Given the description of an element on the screen output the (x, y) to click on. 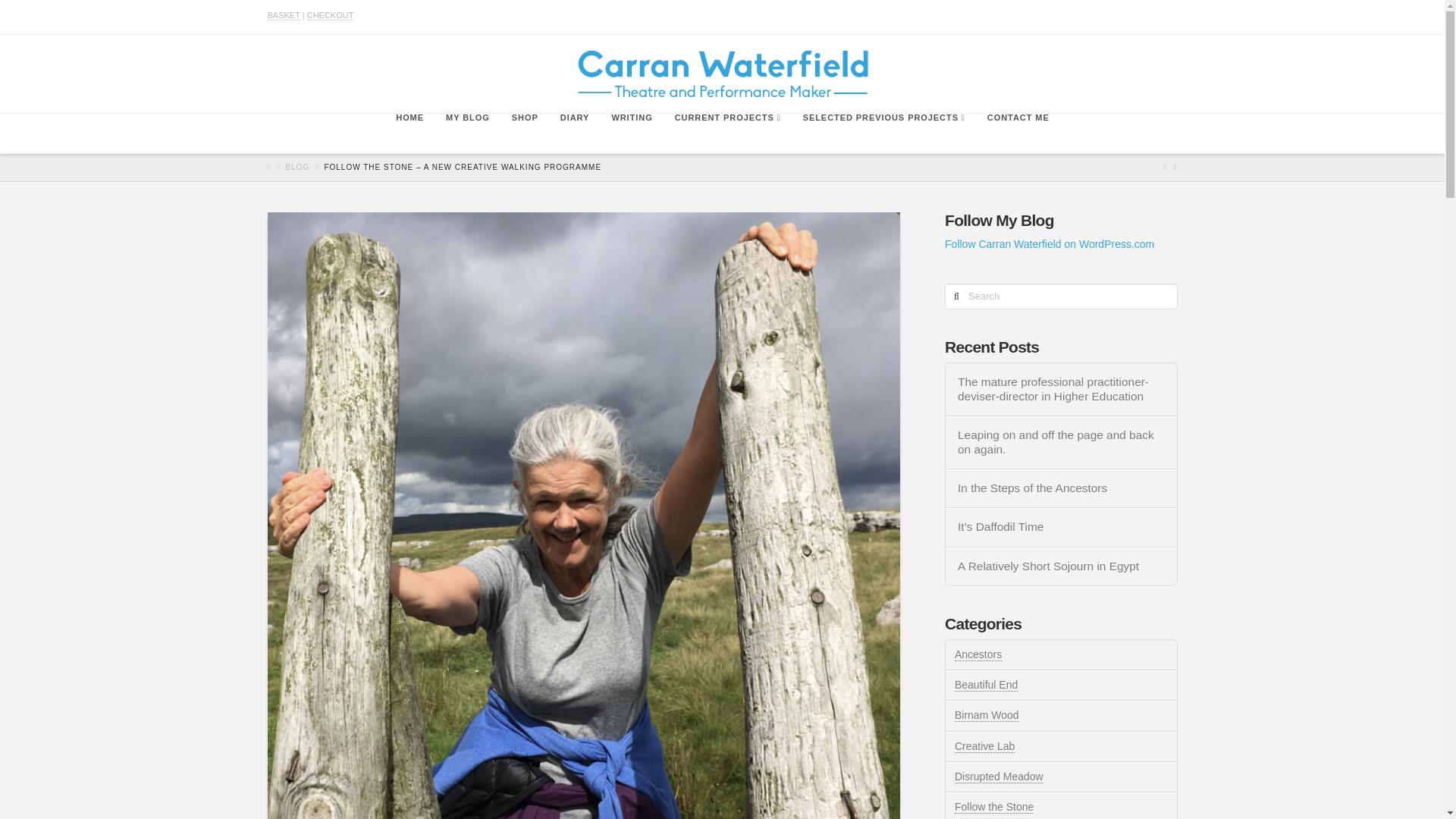
MY BLOG (466, 133)
CHECKOUT (330, 15)
BASKET (282, 15)
HOME (408, 133)
SELECTED PREVIOUS PROJECTS (883, 133)
Theatre and Performance Maker, Author (721, 73)
SHOP (524, 133)
WRITING (630, 133)
CURRENT PROJECTS (727, 133)
CONTACT ME (1017, 133)
